Given the description of an element on the screen output the (x, y) to click on. 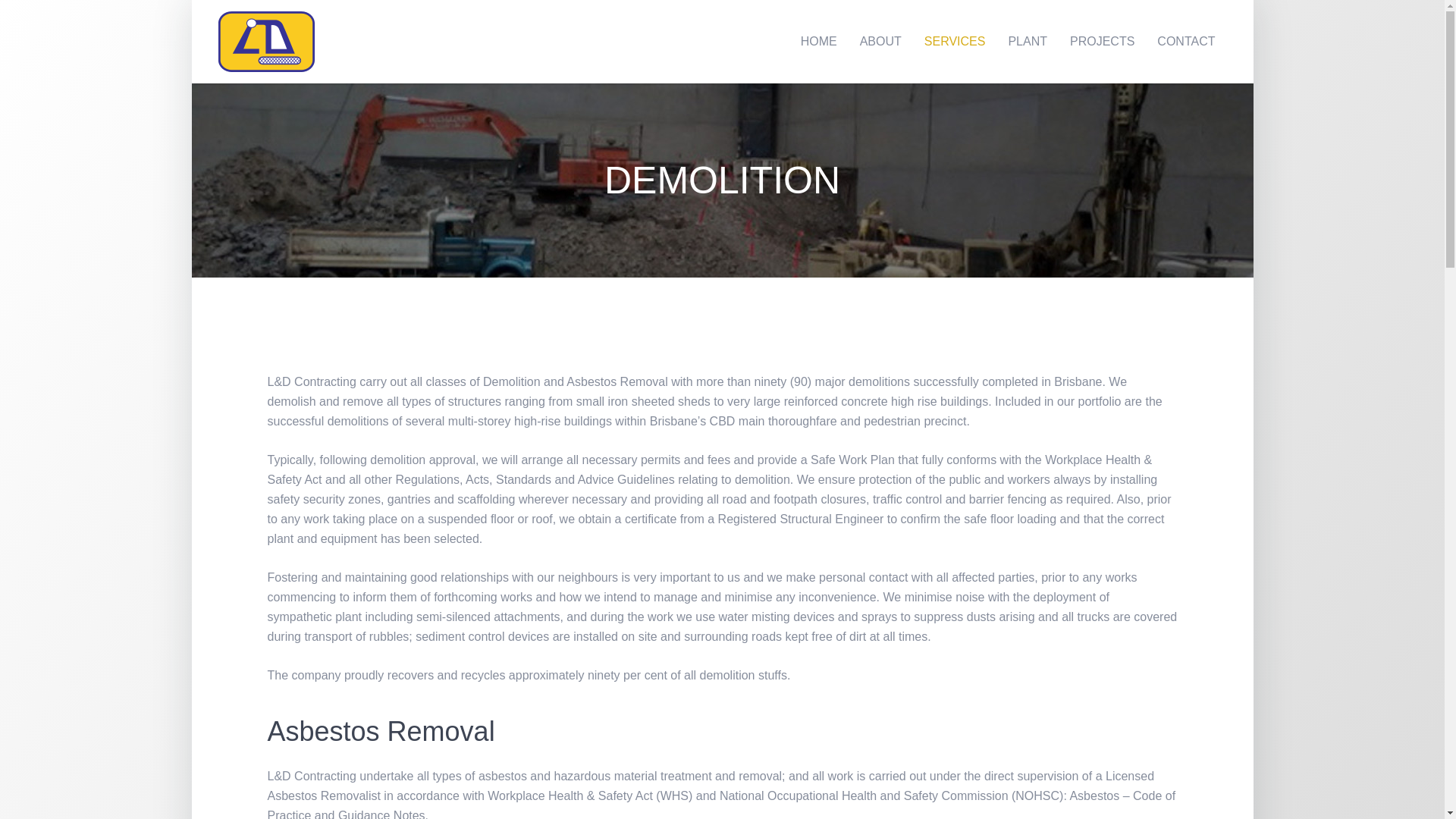
PROJECTS Element type: text (1101, 41)
CONTACT Element type: text (1185, 41)
SERVICES Element type: text (955, 41)
HOME Element type: text (818, 41)
ABOUT Element type: text (880, 41)
PLANT Element type: text (1027, 41)
